Given the description of an element on the screen output the (x, y) to click on. 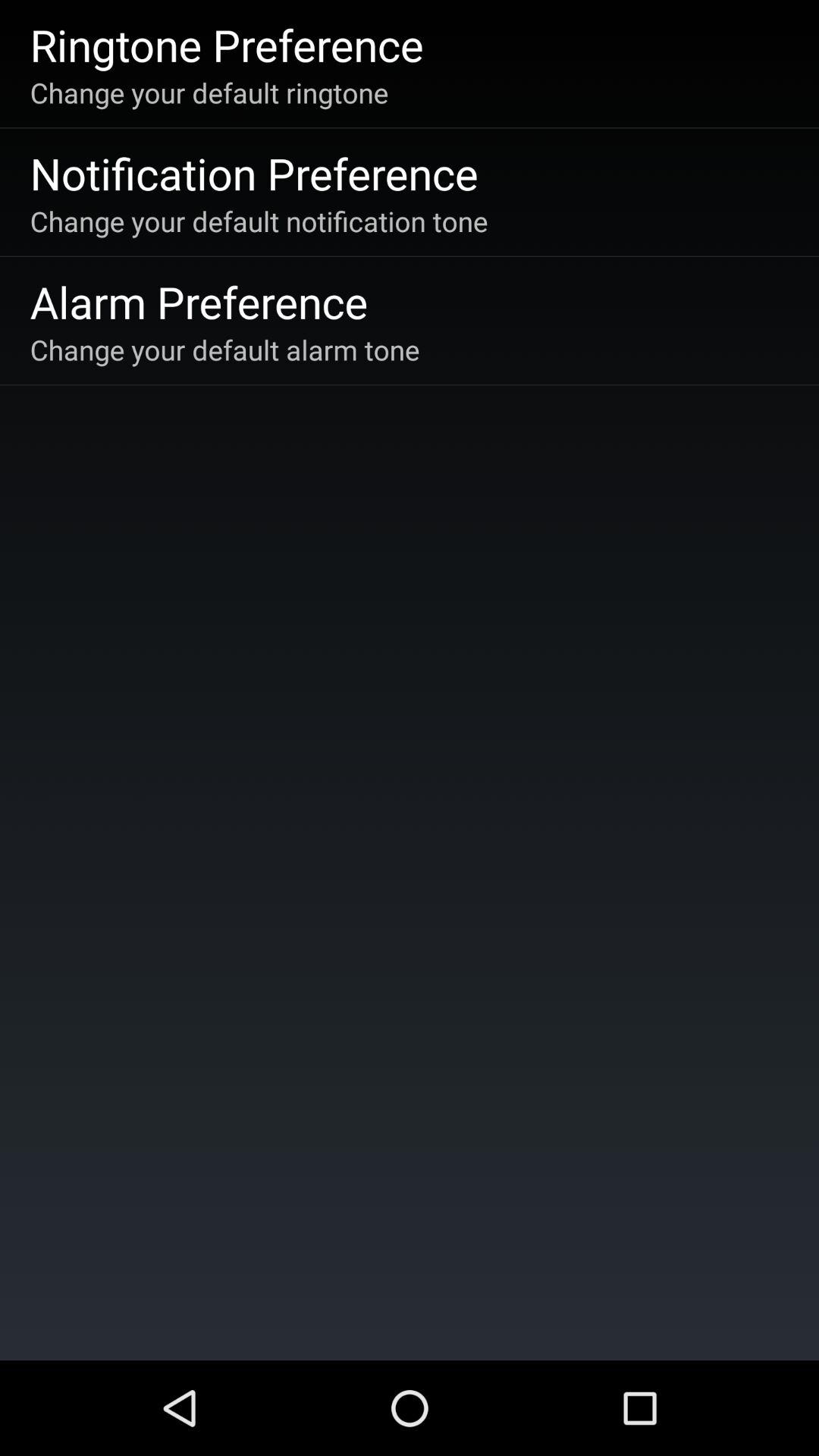
launch icon above the change your default icon (226, 44)
